Given the description of an element on the screen output the (x, y) to click on. 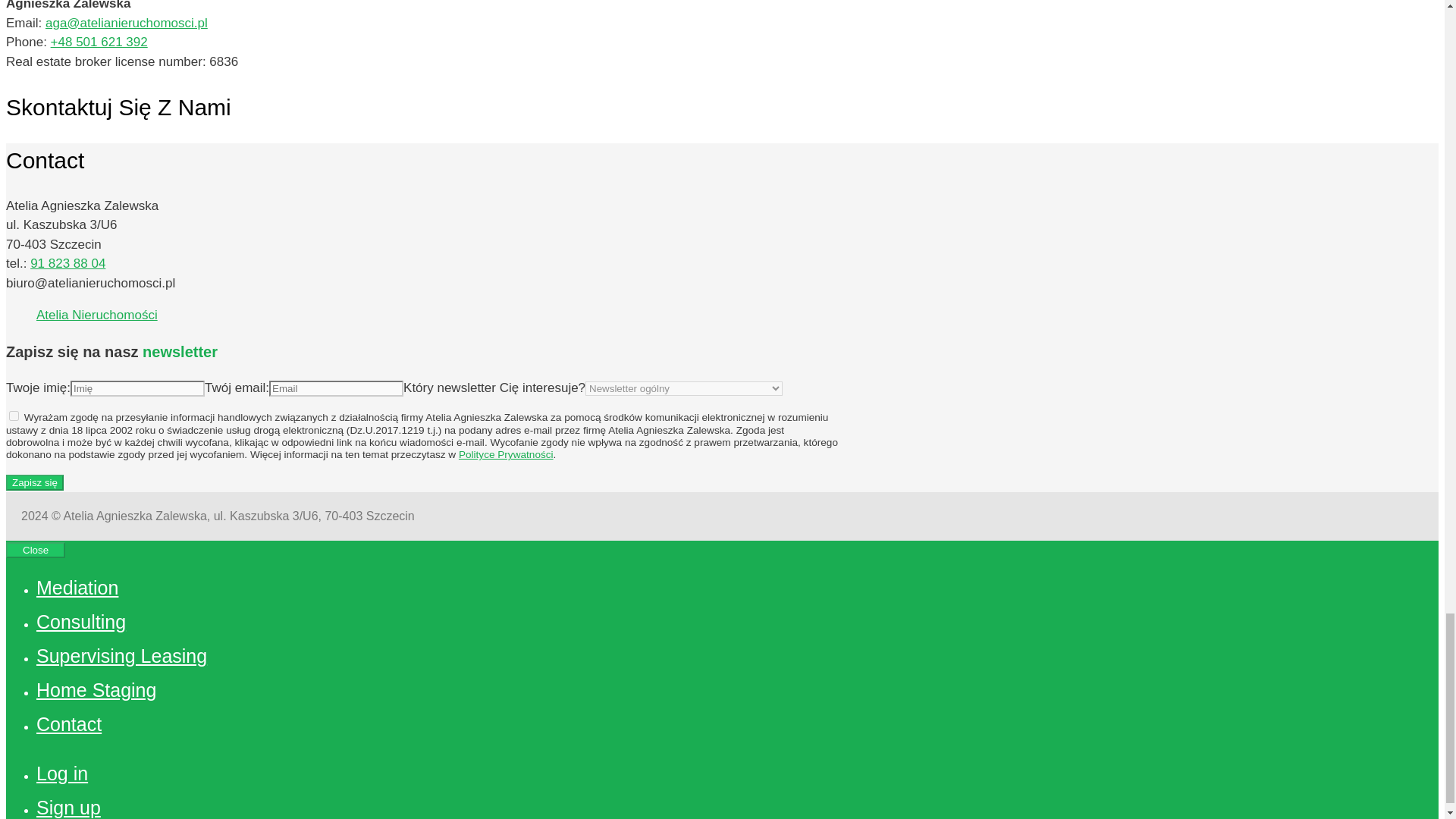
Supervising Leasing (121, 655)
91 823 88 04 (67, 263)
Mediation (76, 587)
true (13, 415)
Consulting (80, 621)
Close (35, 549)
